Given the description of an element on the screen output the (x, y) to click on. 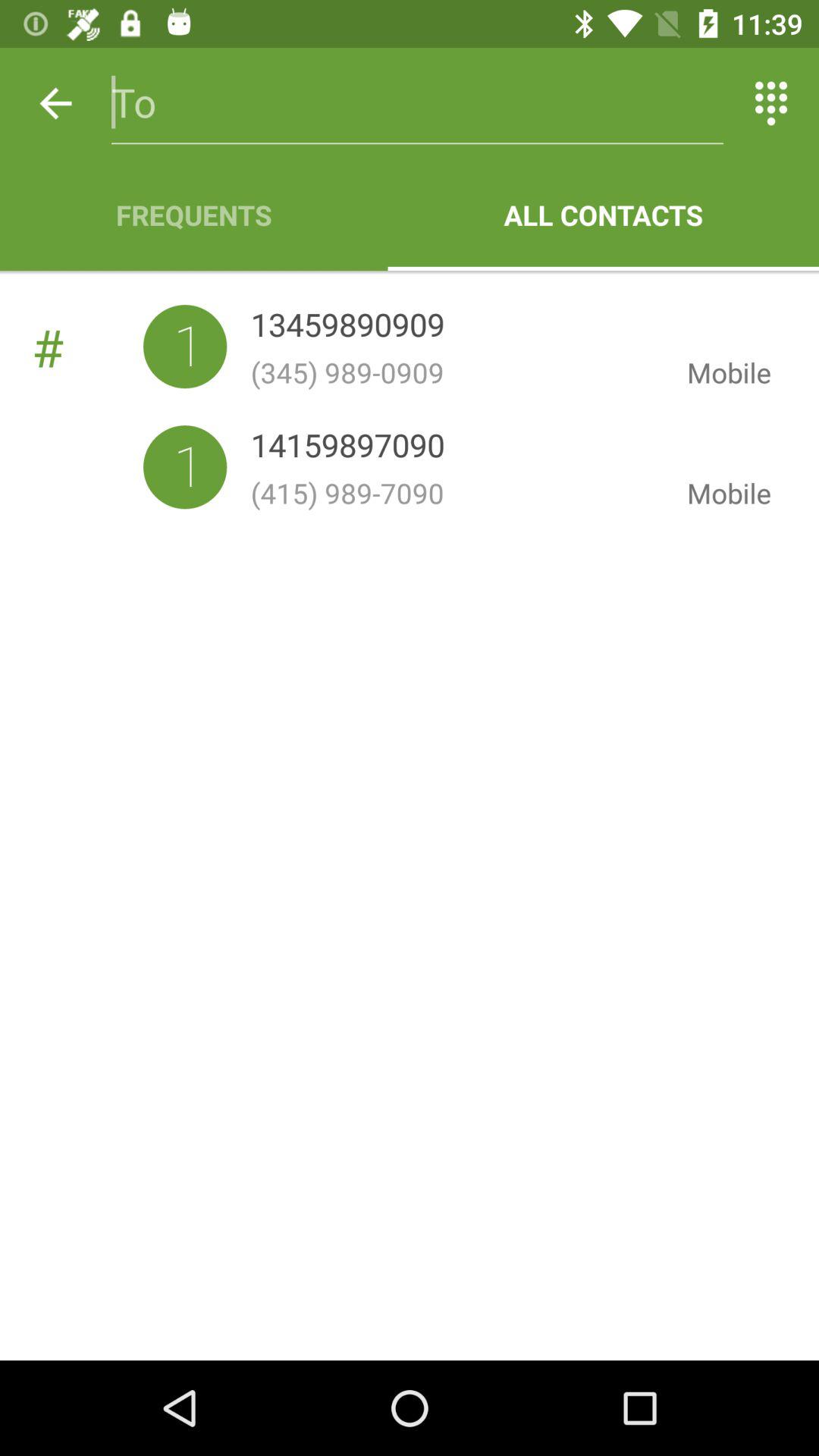
select the icon above the 14159897090 item (456, 372)
